Given the description of an element on the screen output the (x, y) to click on. 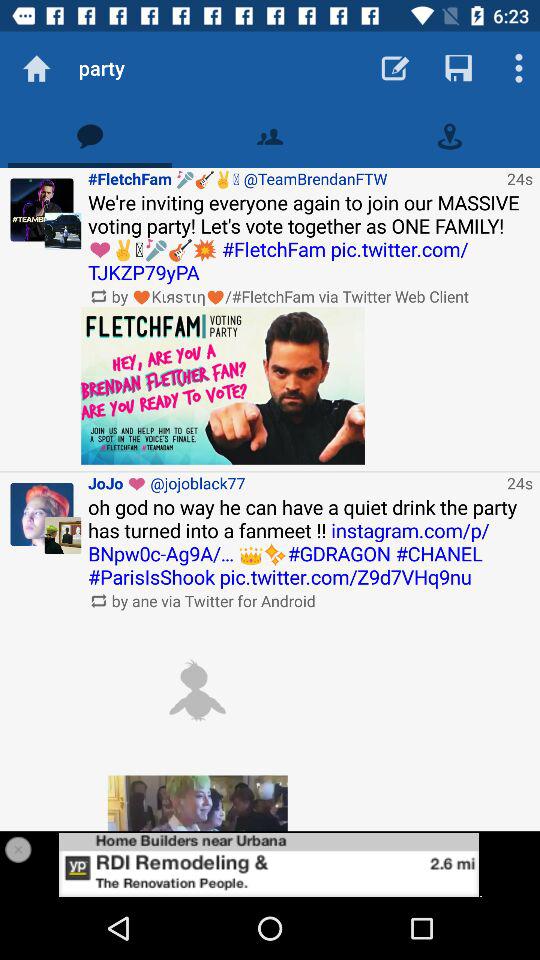
the image contains an advertisement (270, 864)
